Given the description of an element on the screen output the (x, y) to click on. 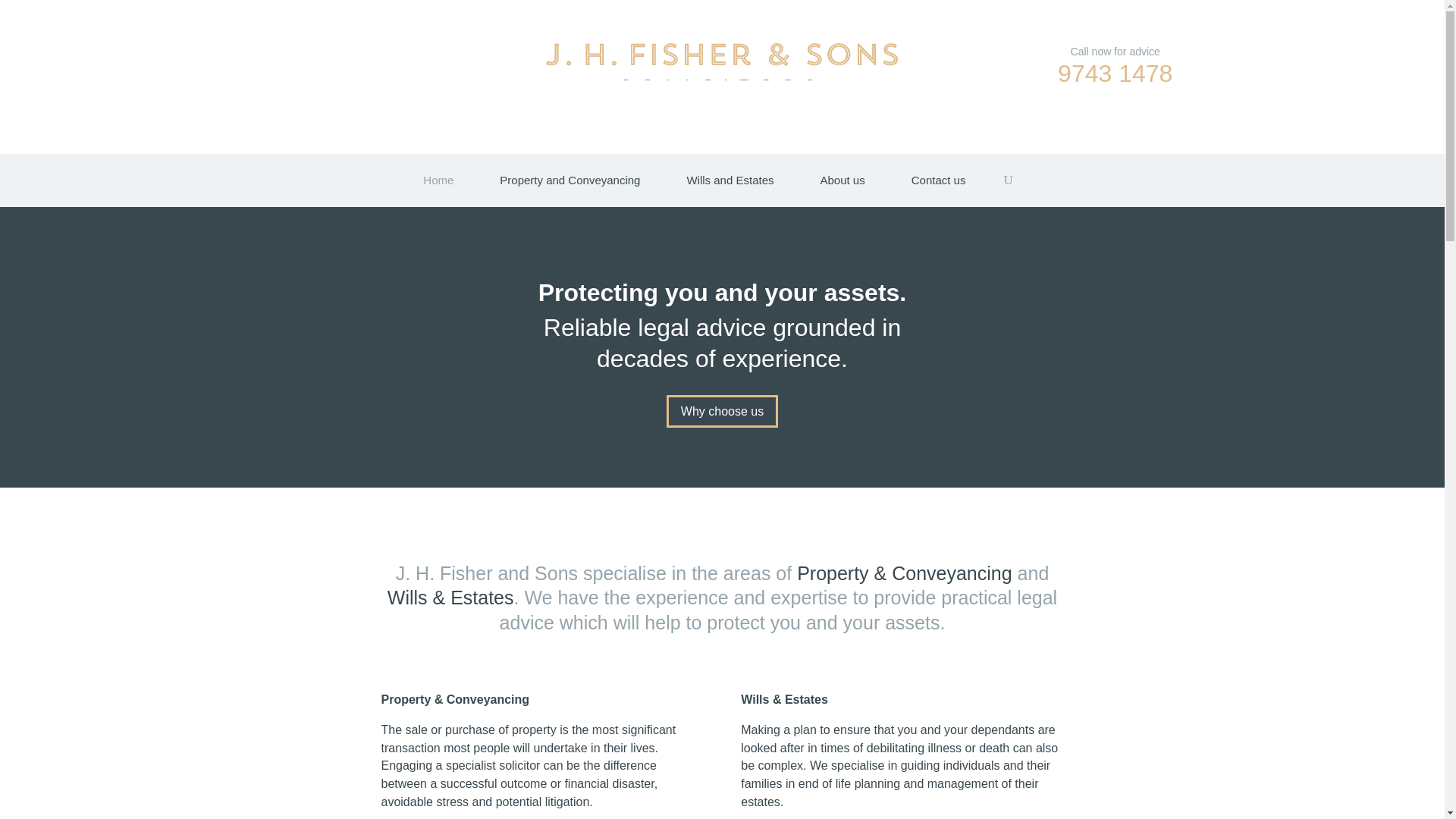
9743 1478 (1115, 72)
Contact us (938, 183)
Home (437, 183)
Why choose us (721, 410)
Property and Conveyancing (569, 183)
About us (841, 183)
Wills and Estates (729, 183)
